Given the description of an element on the screen output the (x, y) to click on. 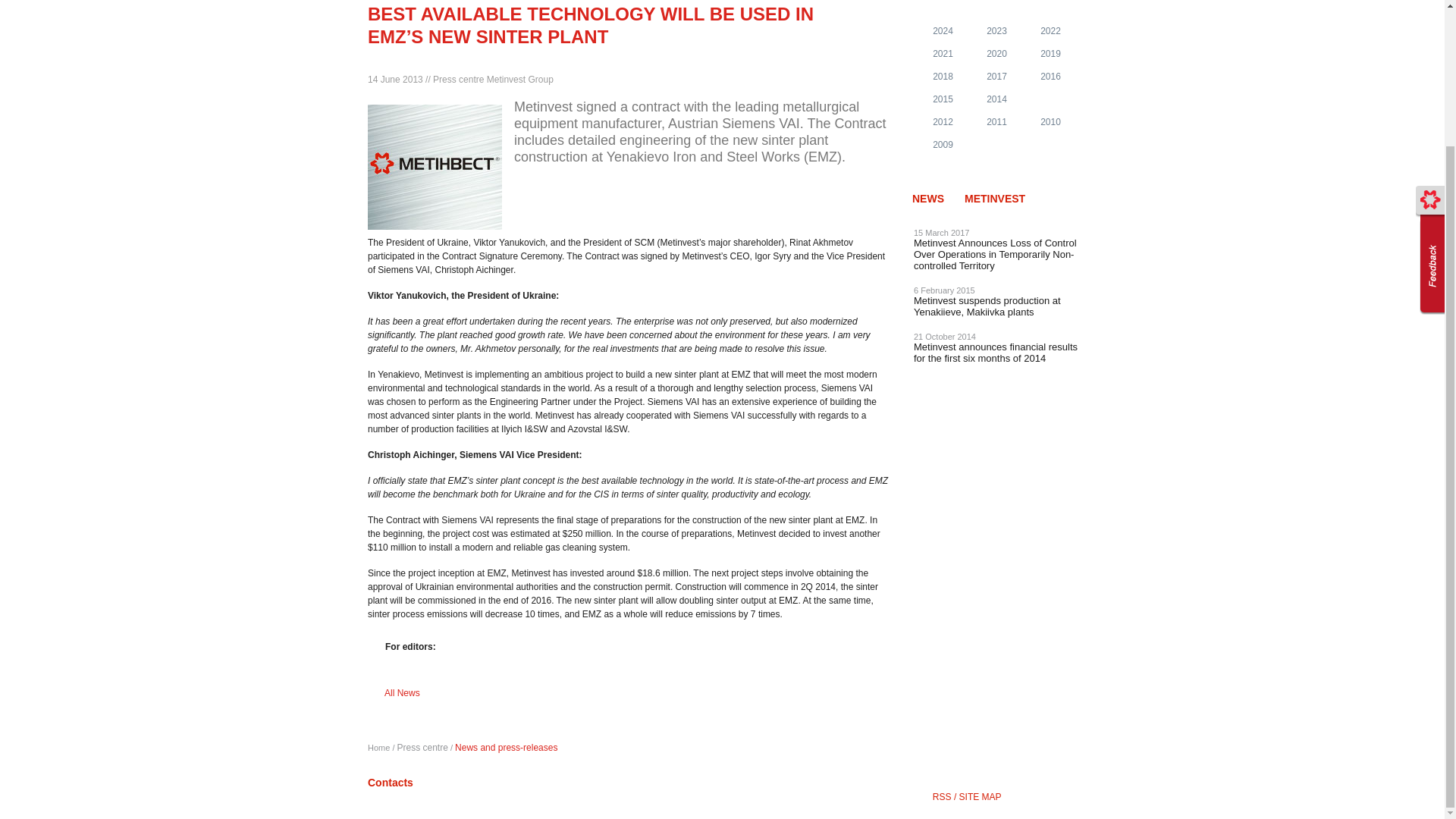
News and press-releases (505, 747)
Press centre (422, 747)
Yenakiieve Iron and Steel Works (379, 747)
